Given the description of an element on the screen output the (x, y) to click on. 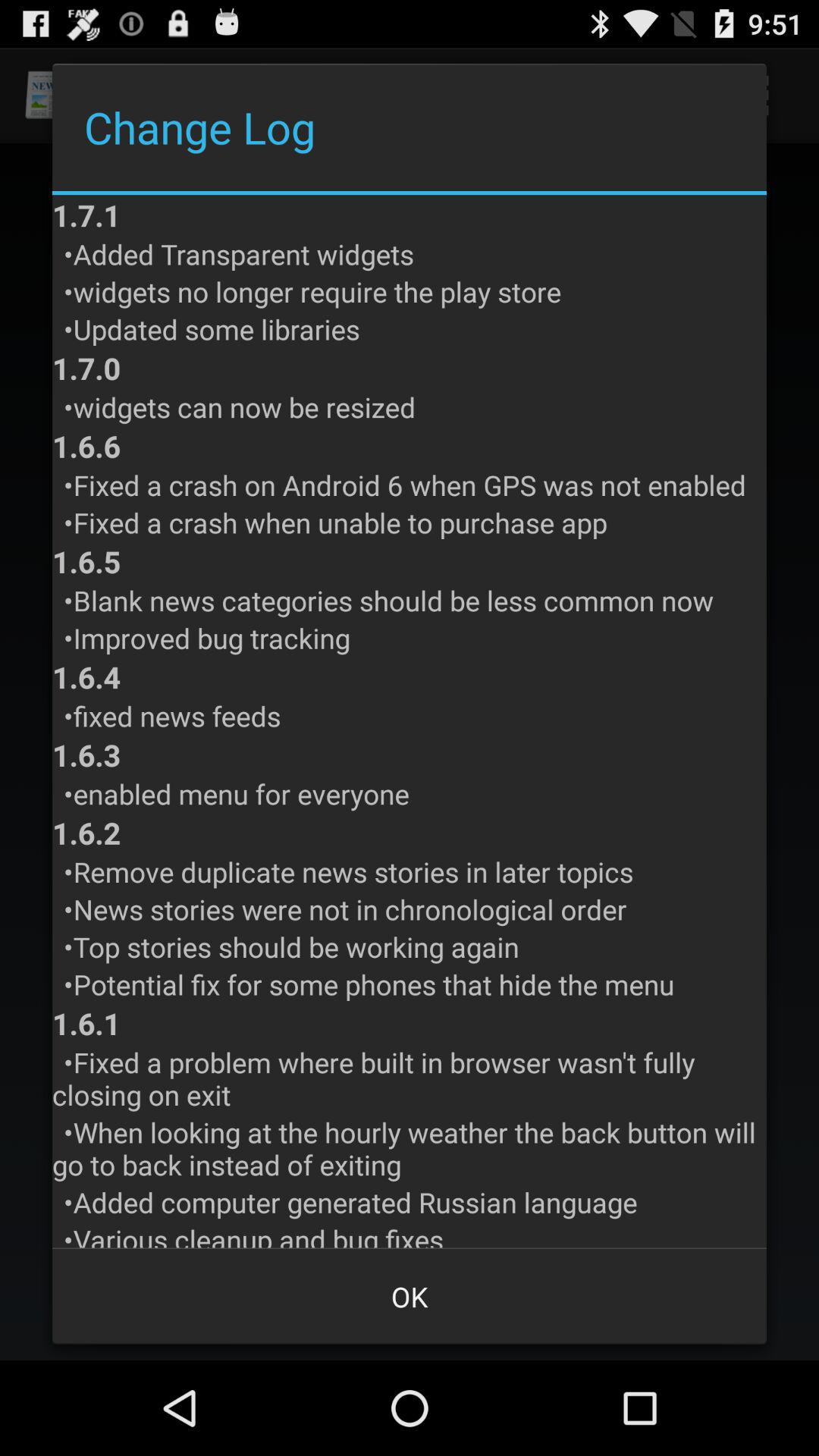
choose ok icon (409, 1296)
